Given the description of an element on the screen output the (x, y) to click on. 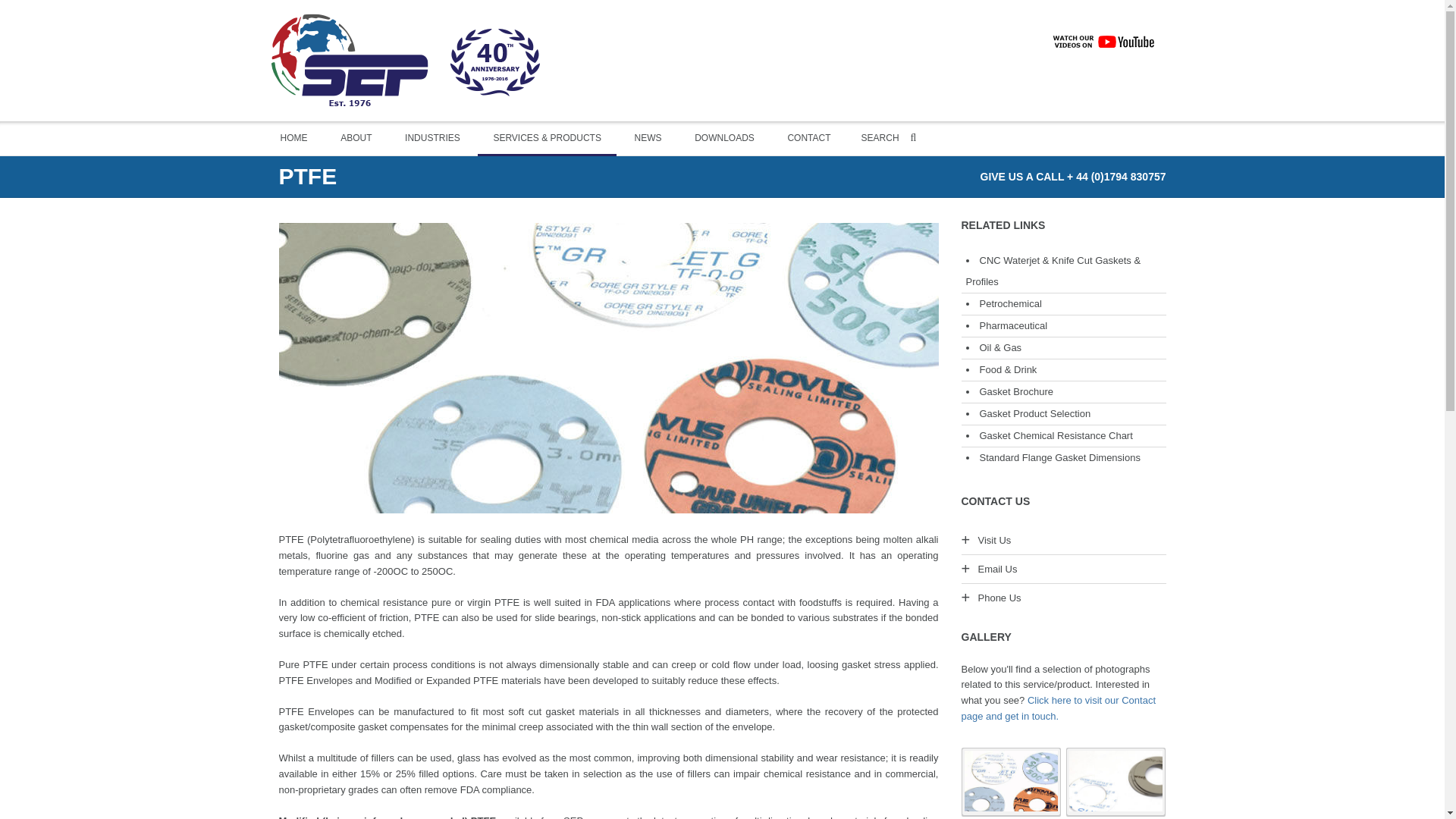
ABOUT (355, 137)
SEARCH    (890, 137)
CONTACT (808, 137)
NEWS (648, 137)
HOME (293, 137)
INDUSTRIES (433, 137)
DOWNLOADS (724, 137)
